Given the description of an element on the screen output the (x, y) to click on. 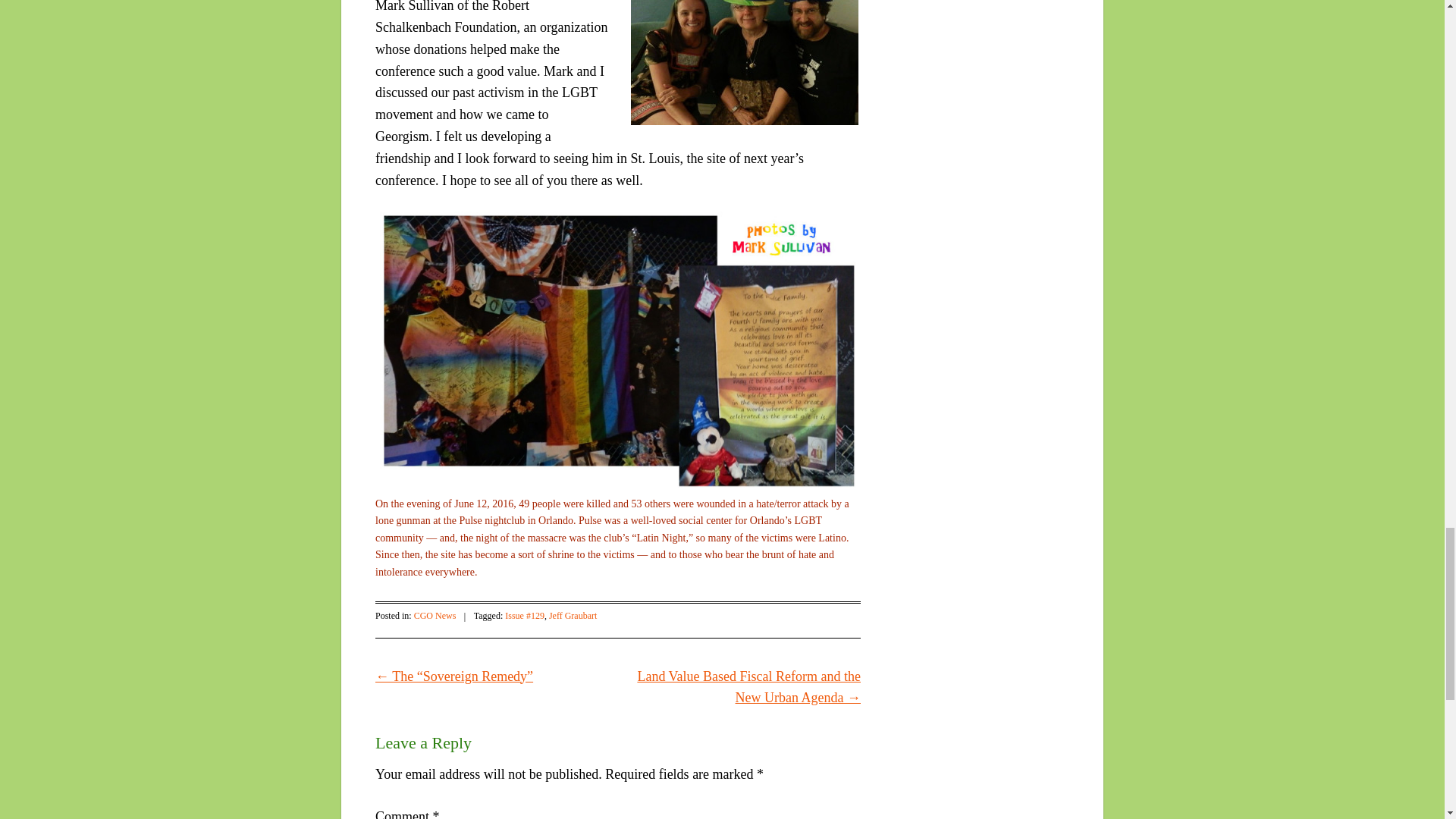
CGO News (435, 615)
Jeff Graubart (572, 615)
